Given the description of an element on the screen output the (x, y) to click on. 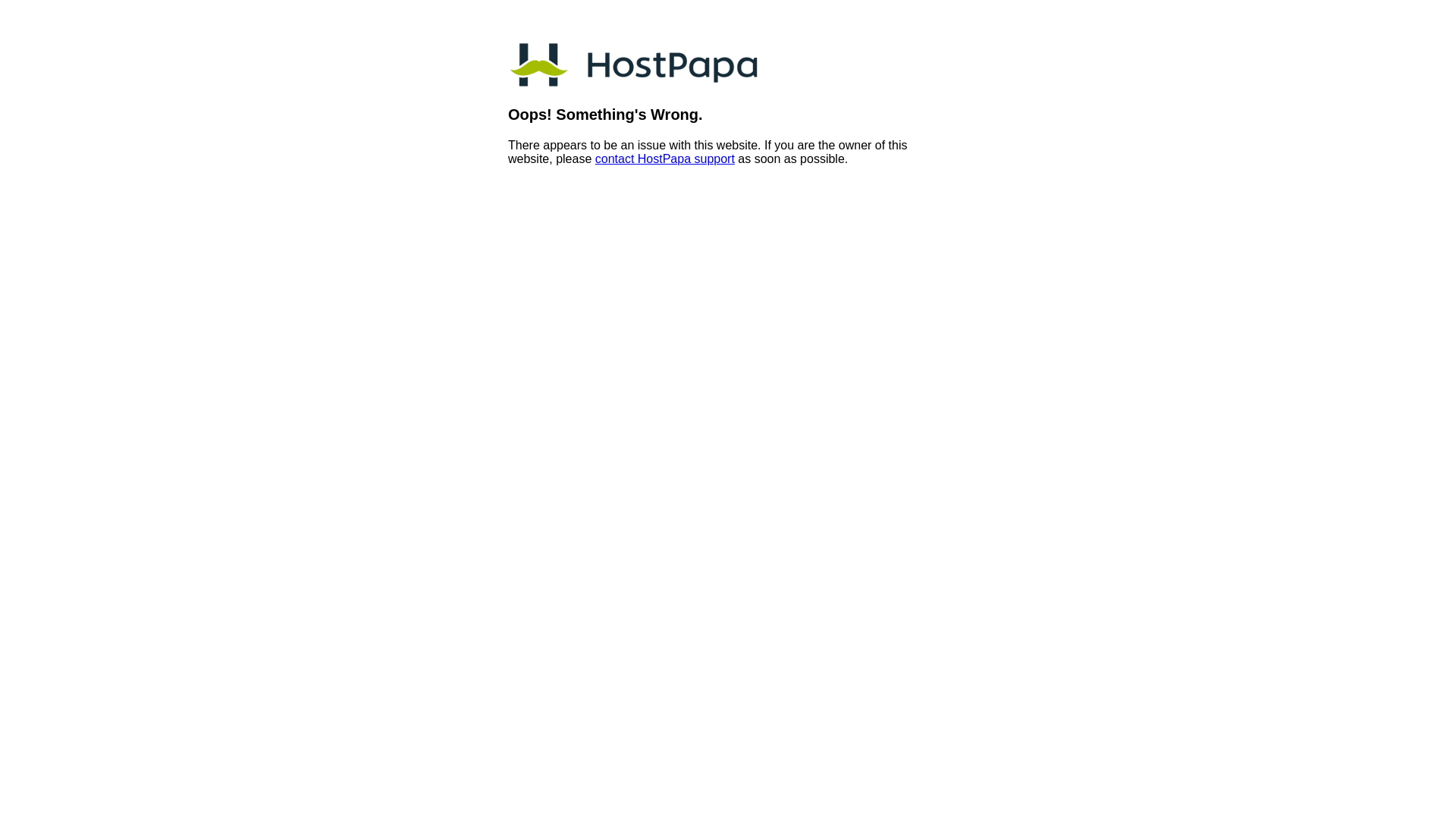
contact HostPapa support Element type: text (664, 158)
